Given the description of an element on the screen output the (x, y) to click on. 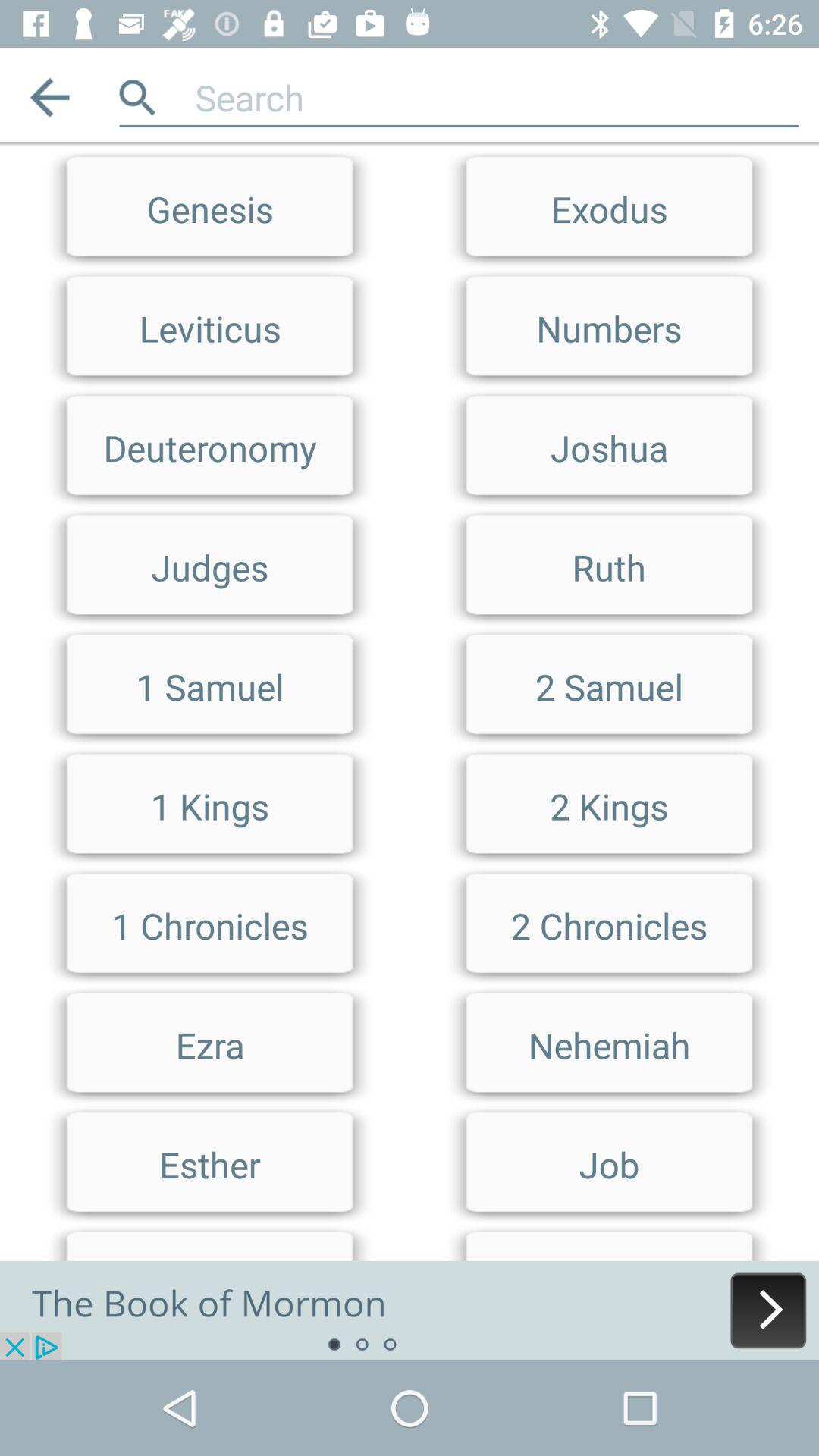
go to advertisement (409, 1310)
